Given the description of an element on the screen output the (x, y) to click on. 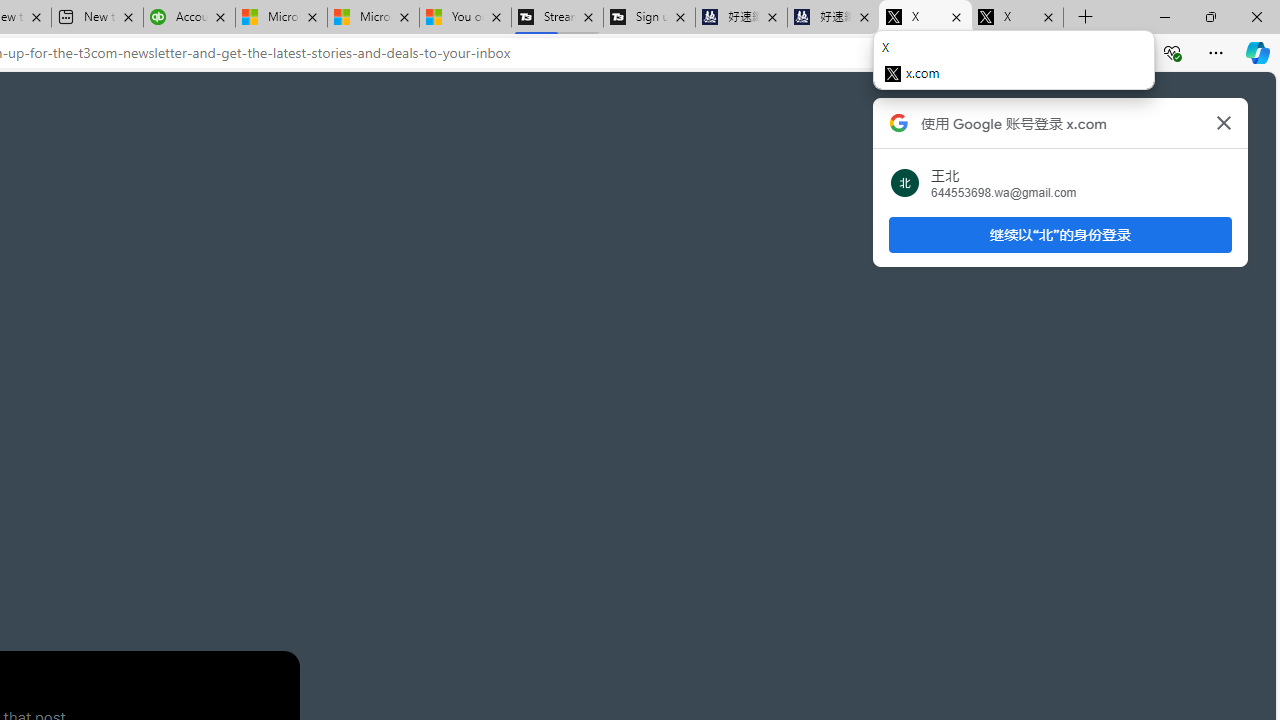
App available. Install X (910, 53)
Accounting Software for Accountants, CPAs and Bookkeepers (189, 17)
